Given the description of an element on the screen output the (x, y) to click on. 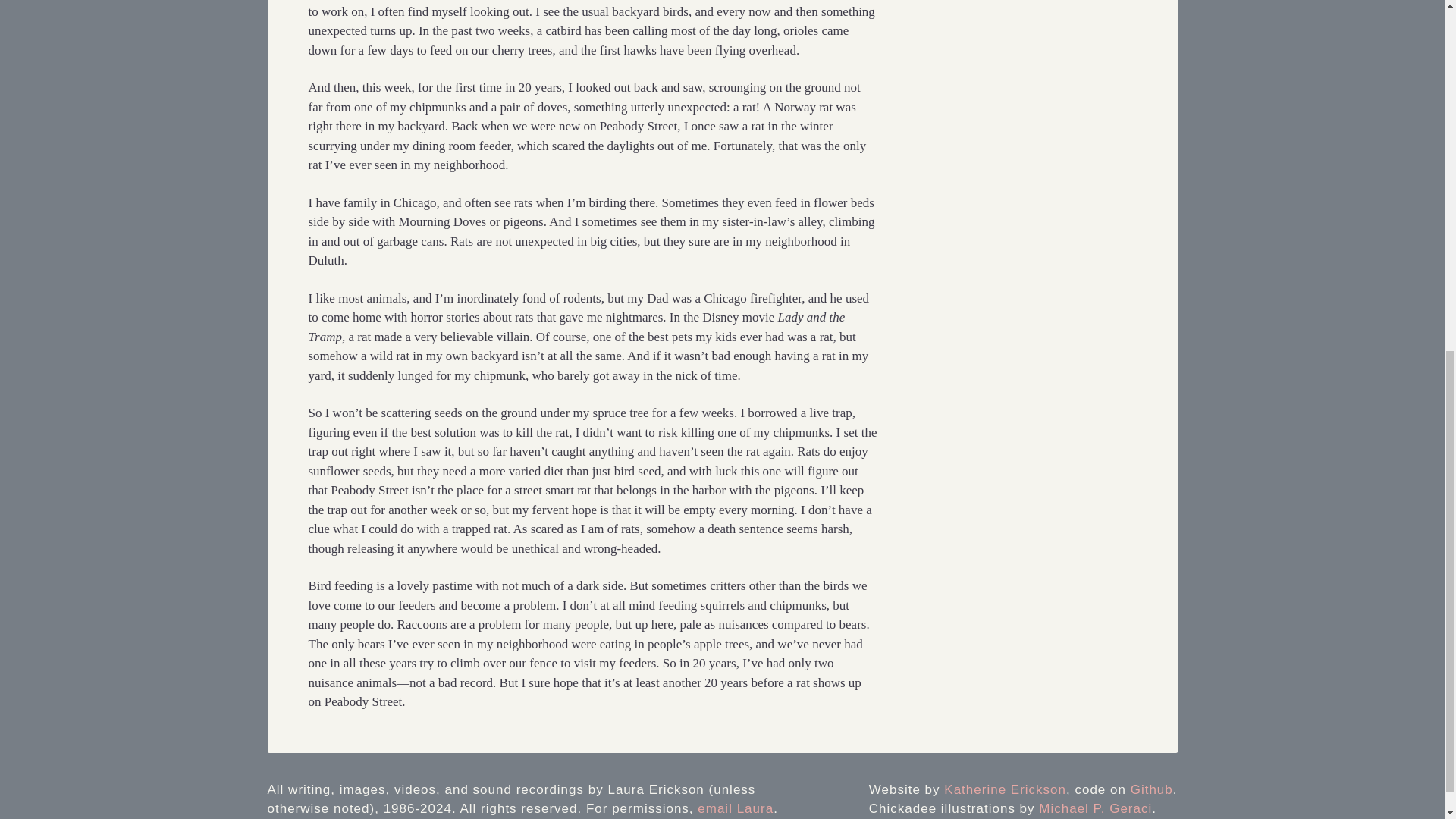
Katherine Erickson (1004, 789)
Github (1152, 789)
Michael P. Geraci (1095, 808)
email Laura (735, 808)
